Given the description of an element on the screen output the (x, y) to click on. 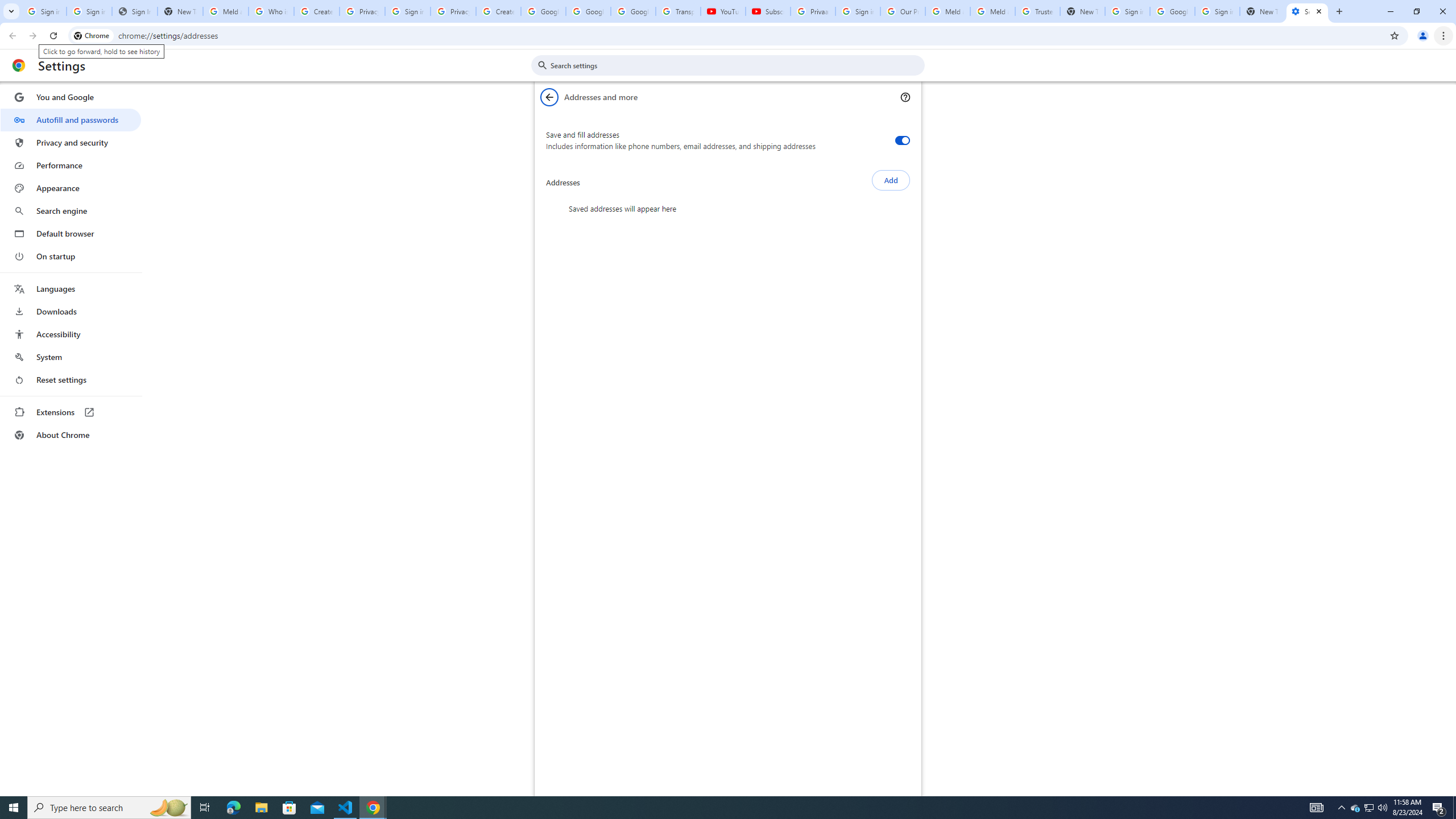
About Chrome (70, 434)
Privacy and security (70, 142)
Sign In - USA TODAY (134, 11)
Default browser (70, 233)
Who is my administrator? - Google Account Help (270, 11)
Languages (70, 288)
Sign in - Google Accounts (43, 11)
Accessibility (70, 333)
Autofill and passwords (70, 119)
